Given the description of an element on the screen output the (x, y) to click on. 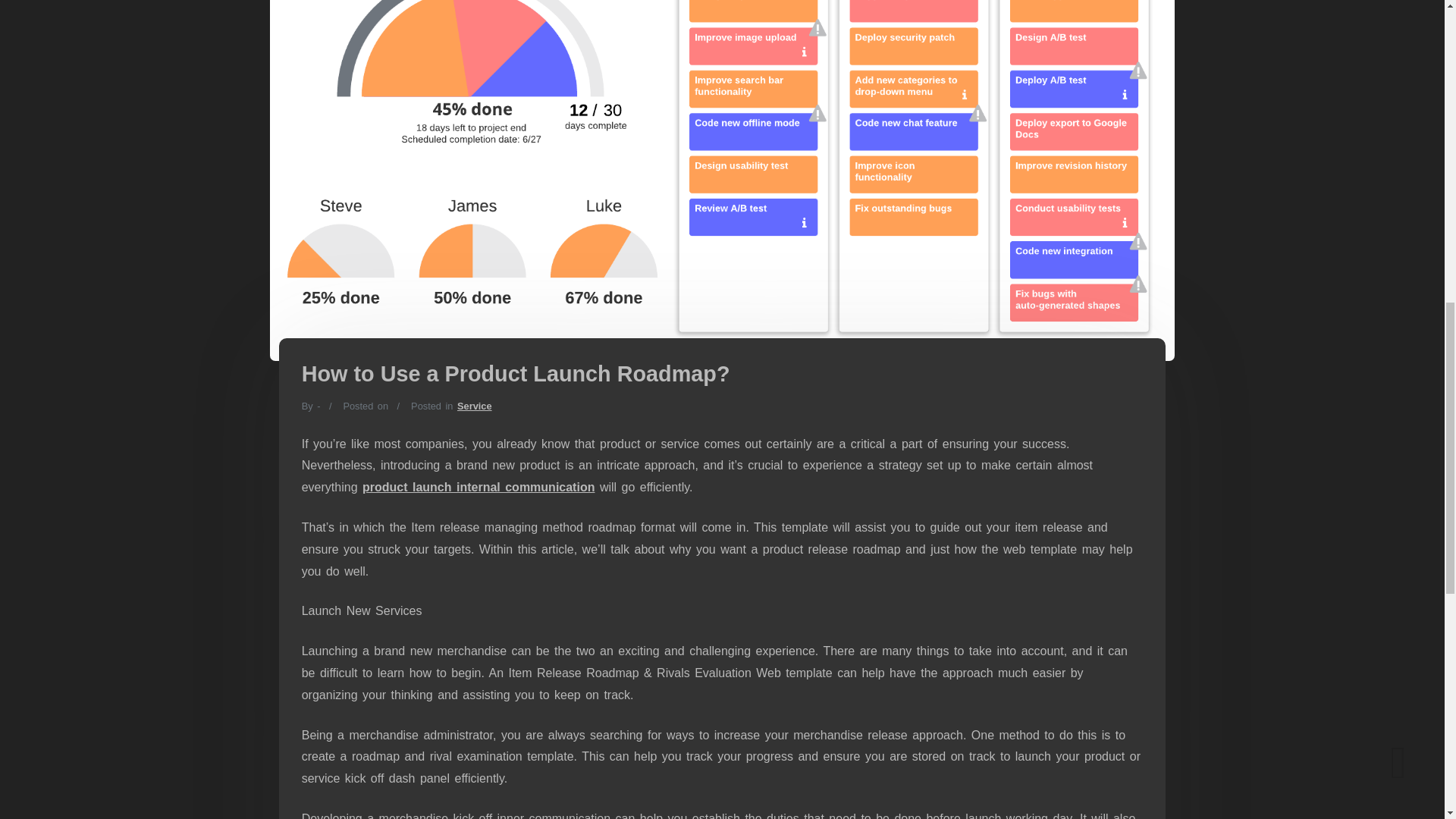
product launch internal communication (478, 486)
Service (474, 405)
